Given the description of an element on the screen output the (x, y) to click on. 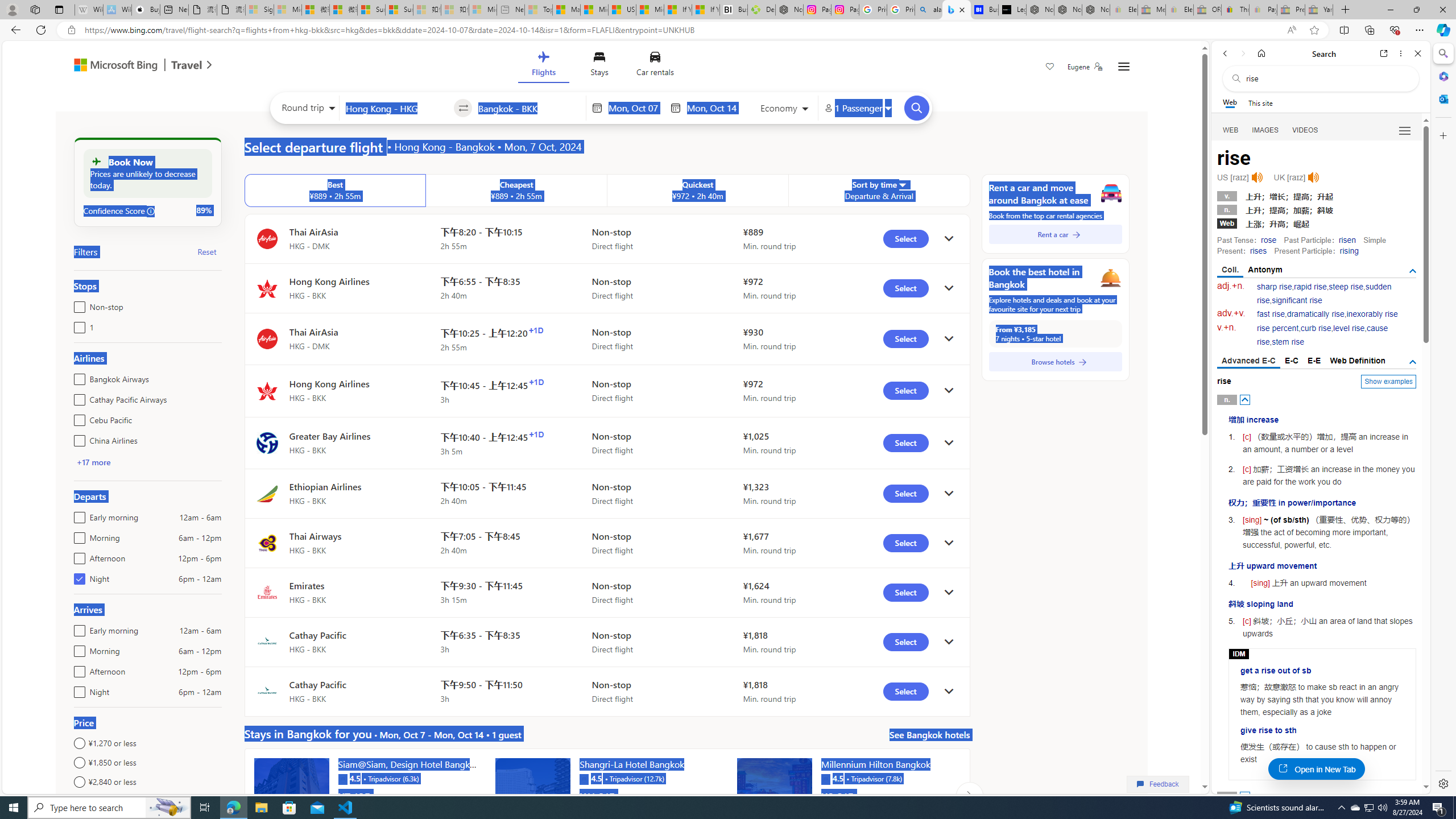
Microsoft Bing Travel - Flights from Hong Kong to Bangkok (956, 9)
steep rise (1345, 286)
Bangkok Airways (76, 376)
Browse hotels (1055, 361)
China Airlines (76, 438)
Microsoft Bing (110, 65)
End date (713, 107)
